Given the description of an element on the screen output the (x, y) to click on. 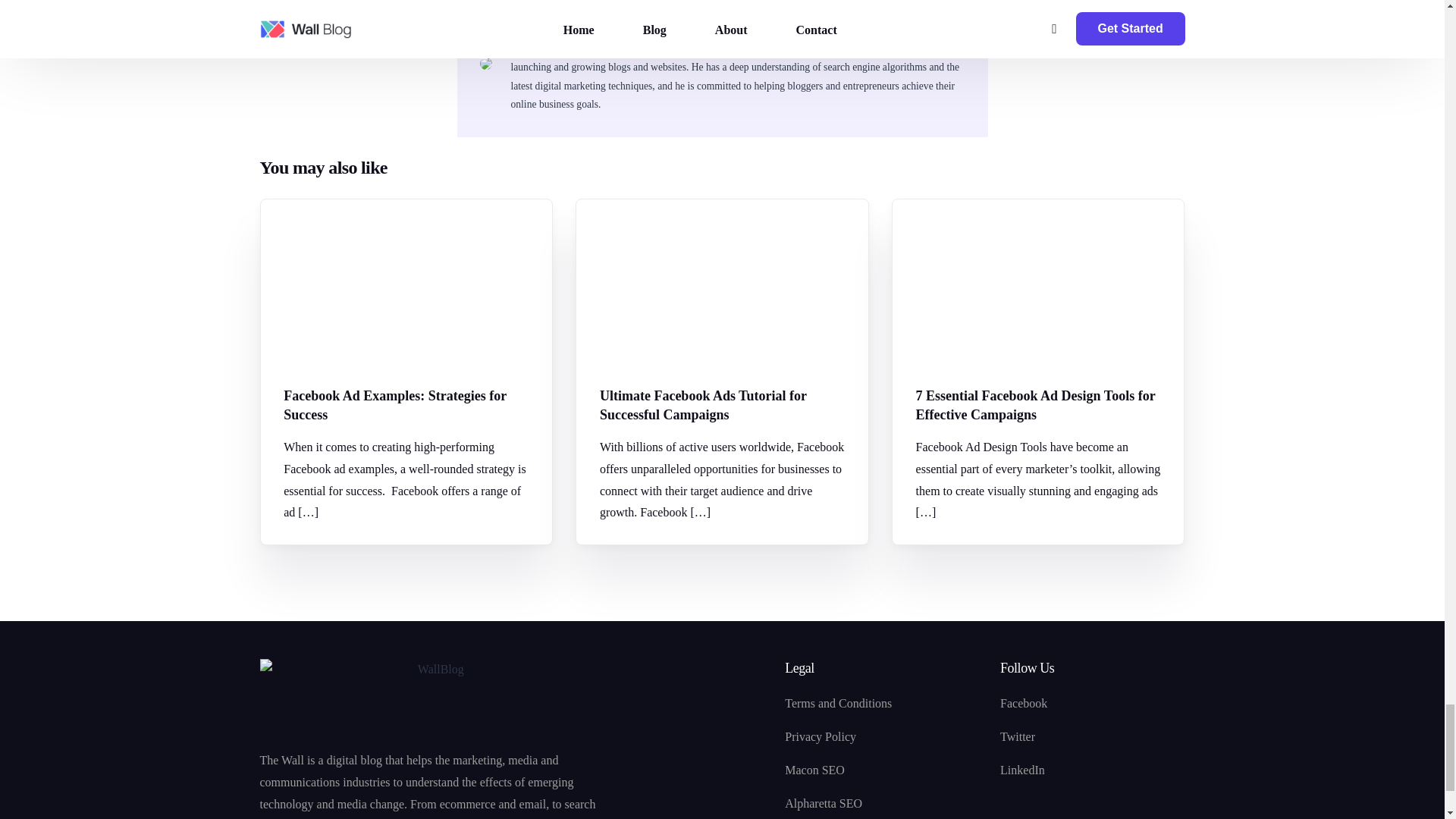
View Post: Facebook Ad Examples: Strategies for Success  (405, 405)
 View Post: Facebook Ad Examples: Strategies for Success (406, 282)
Youssef Hodaigui (564, 23)
Posts by Youssef Hodaigui (564, 23)
